Given the description of an element on the screen output the (x, y) to click on. 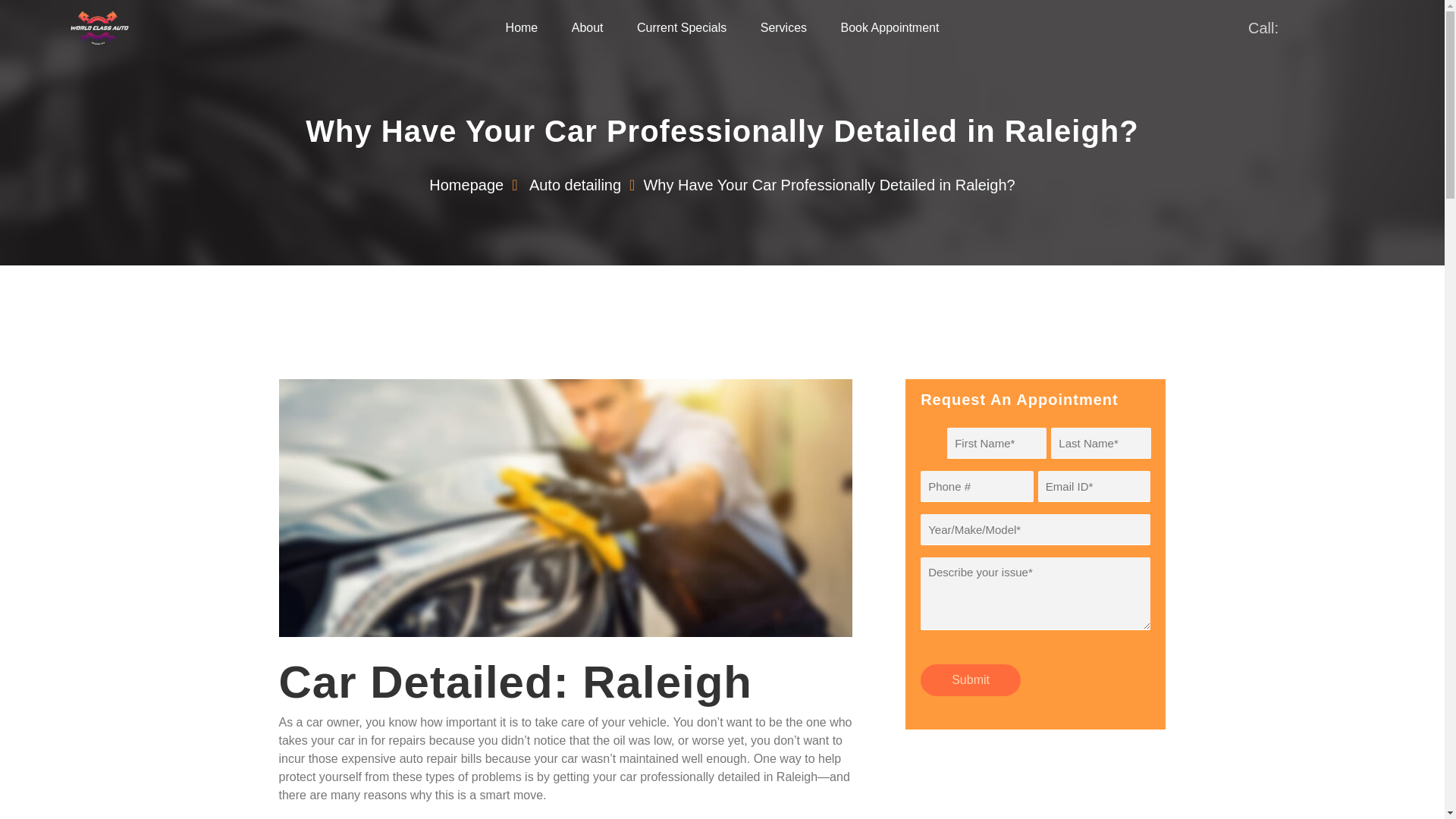
Home (521, 28)
Homepage (466, 184)
Submit (970, 680)
919 876-8011 (1328, 27)
Services (783, 28)
Book Appointment (890, 28)
Current Specials (681, 28)
About (588, 28)
Auto detailing (575, 184)
Submit (970, 680)
